Given the description of an element on the screen output the (x, y) to click on. 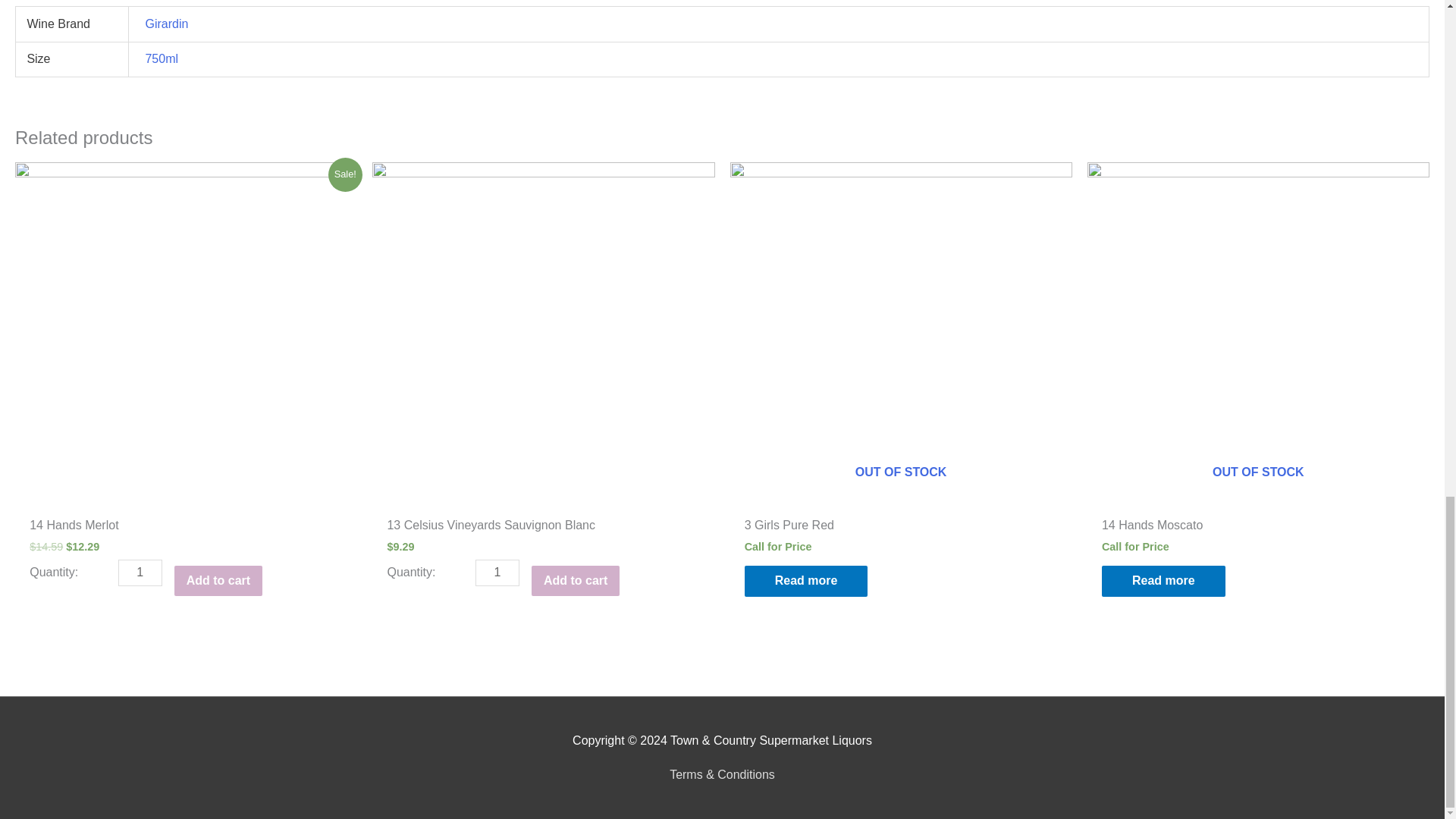
1 (139, 572)
OUT OF STOCK (900, 333)
750ml (160, 58)
Girardin (165, 23)
1 (497, 572)
Add to cart (218, 581)
14 Hands Merlot (73, 528)
Add to cart (575, 581)
Read more (805, 581)
Qty (497, 572)
13 Celsius Vineyards Sauvignon Blanc (491, 528)
3 Girls Pure Red (789, 528)
Qty (139, 572)
